Given the description of an element on the screen output the (x, y) to click on. 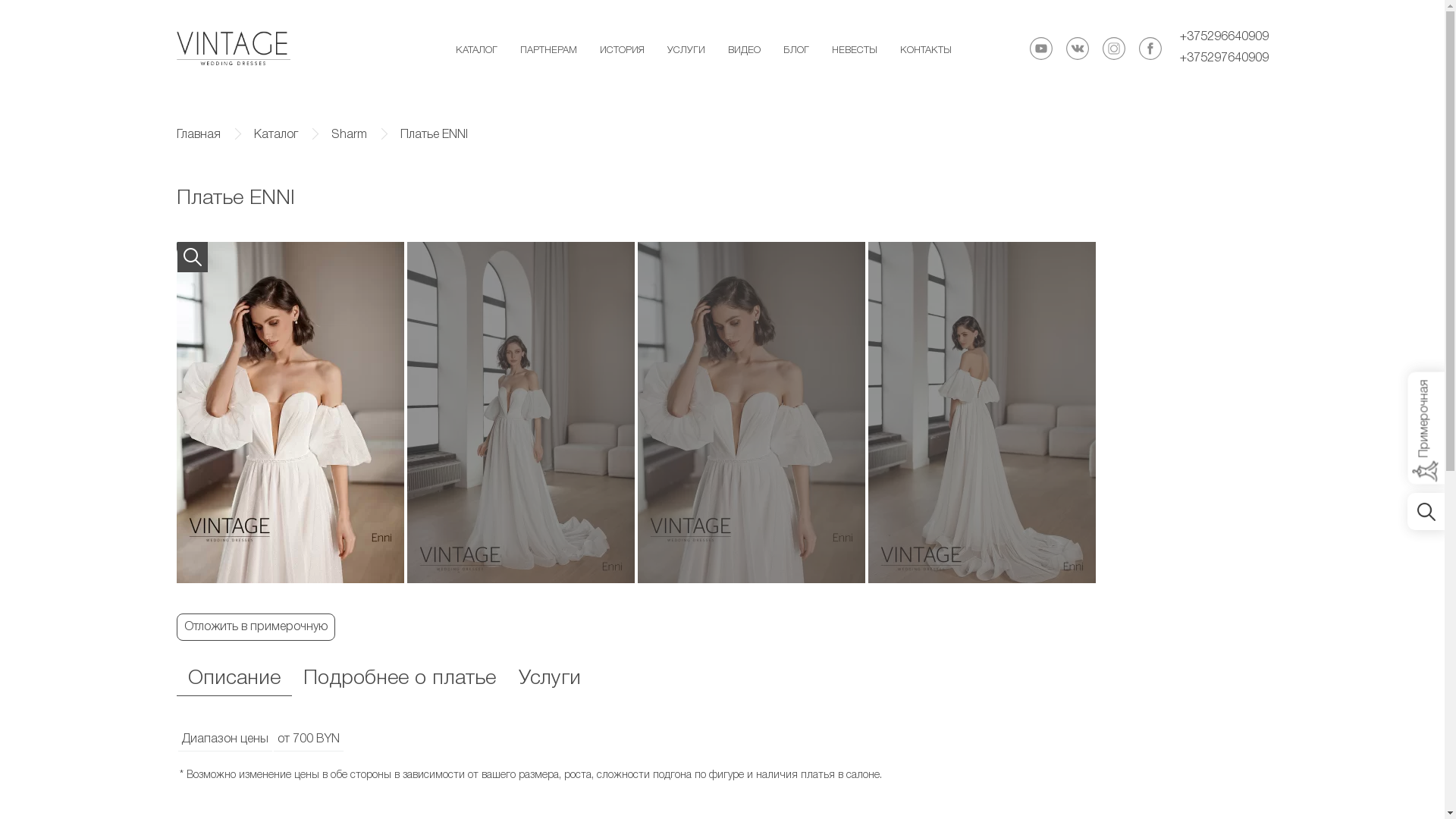
+375297640909 Element type: text (1223, 58)
Sharm Element type: text (348, 134)
+375296640909 Element type: text (1223, 37)
